Given the description of an element on the screen output the (x, y) to click on. 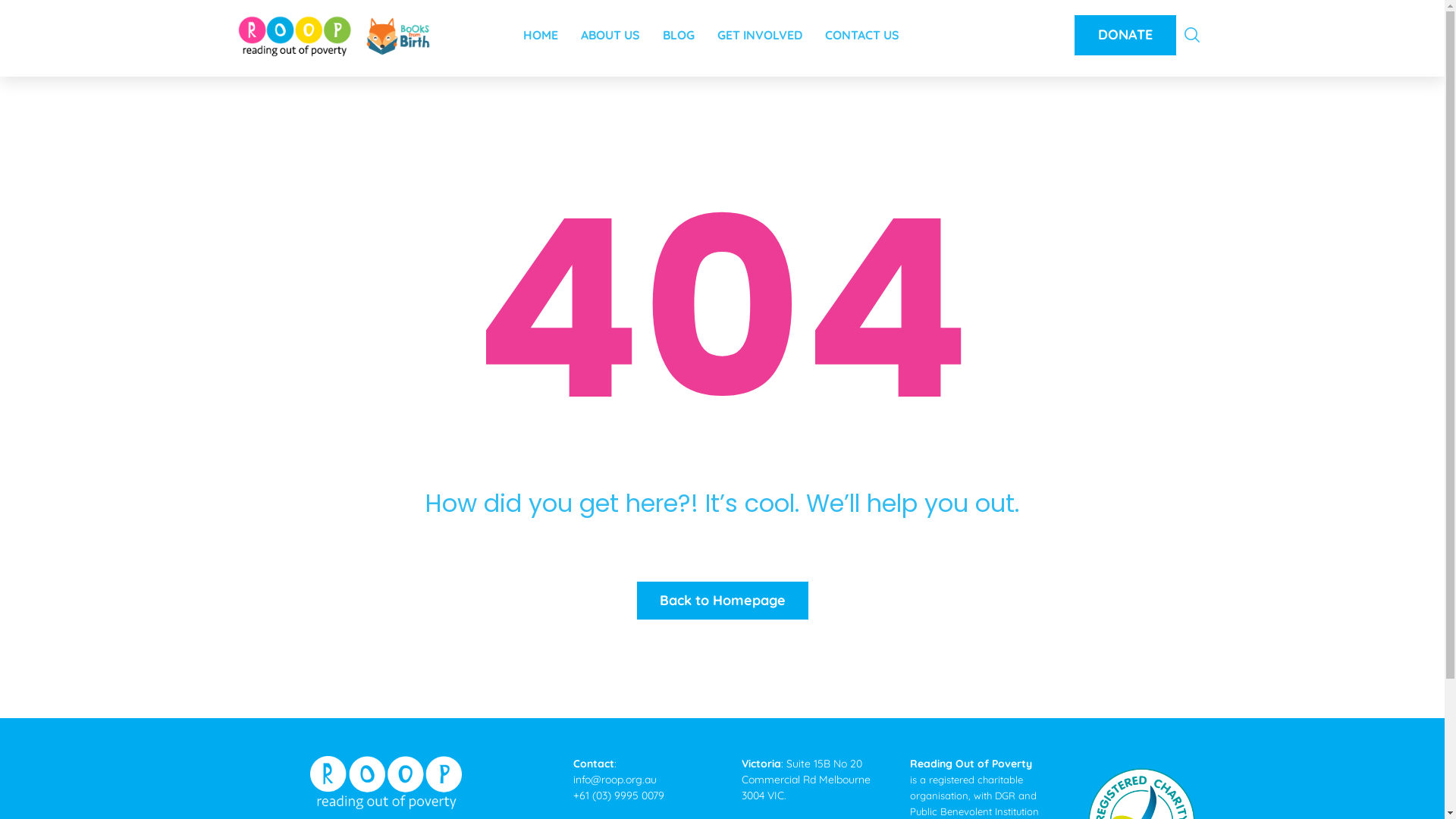
GET INVOLVED Element type: text (759, 29)
Back to Homepage Element type: text (722, 600)
ROOP Element type: hover (333, 36)
BLOG Element type: text (678, 29)
DONATE Element type: text (1124, 35)
CONTACT US Element type: text (862, 29)
HOME Element type: text (540, 29)
ABOUT US Element type: text (610, 29)
